Given the description of an element on the screen output the (x, y) to click on. 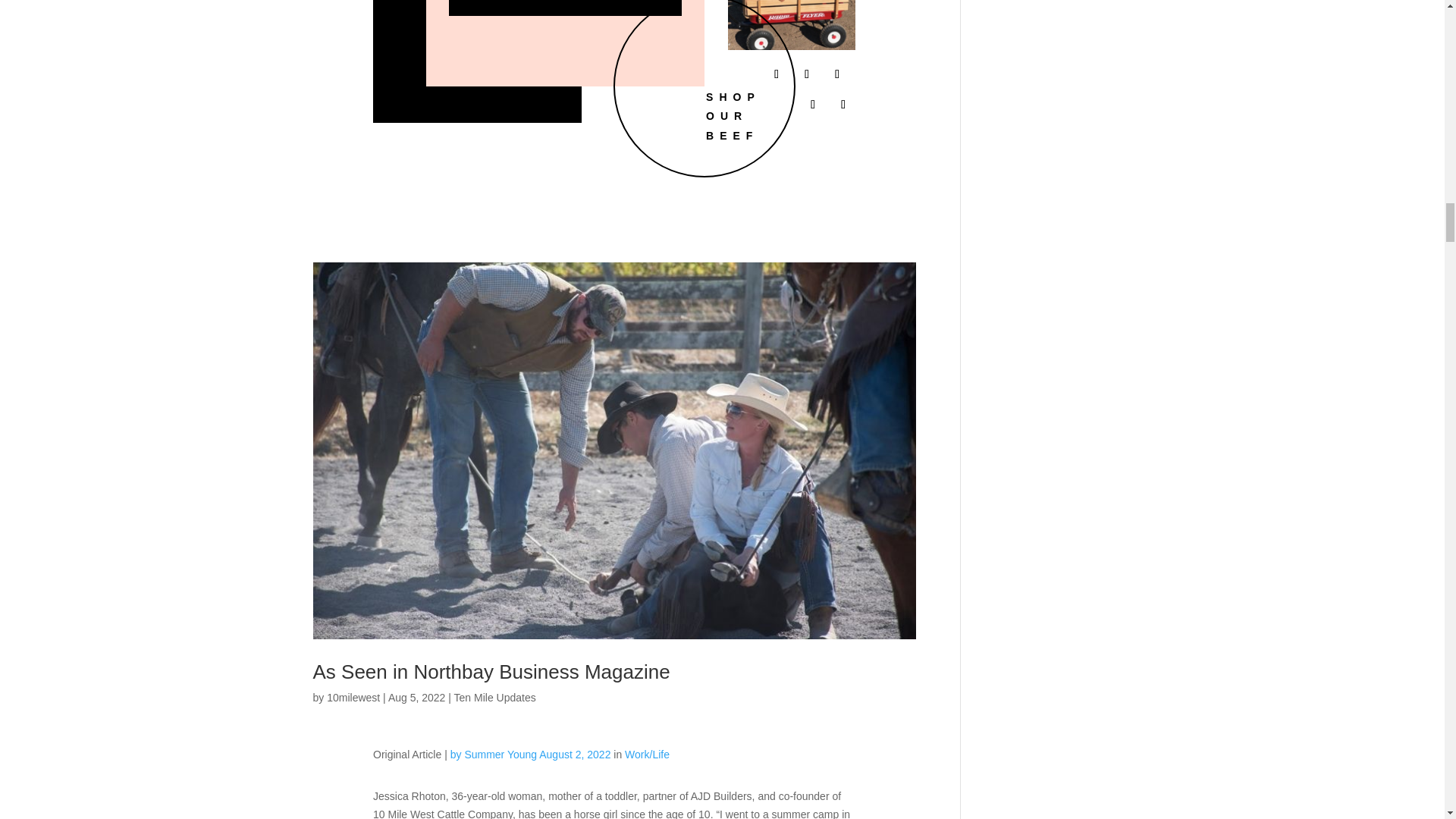
Follow on Facebook (776, 74)
Posts by 10milewest (353, 697)
Follow on Instagram (836, 74)
Follow on Youtube (812, 104)
Follow on Pinterest (843, 104)
Follow on X (806, 74)
Wiley and his Pup (792, 24)
